Given the description of an element on the screen output the (x, y) to click on. 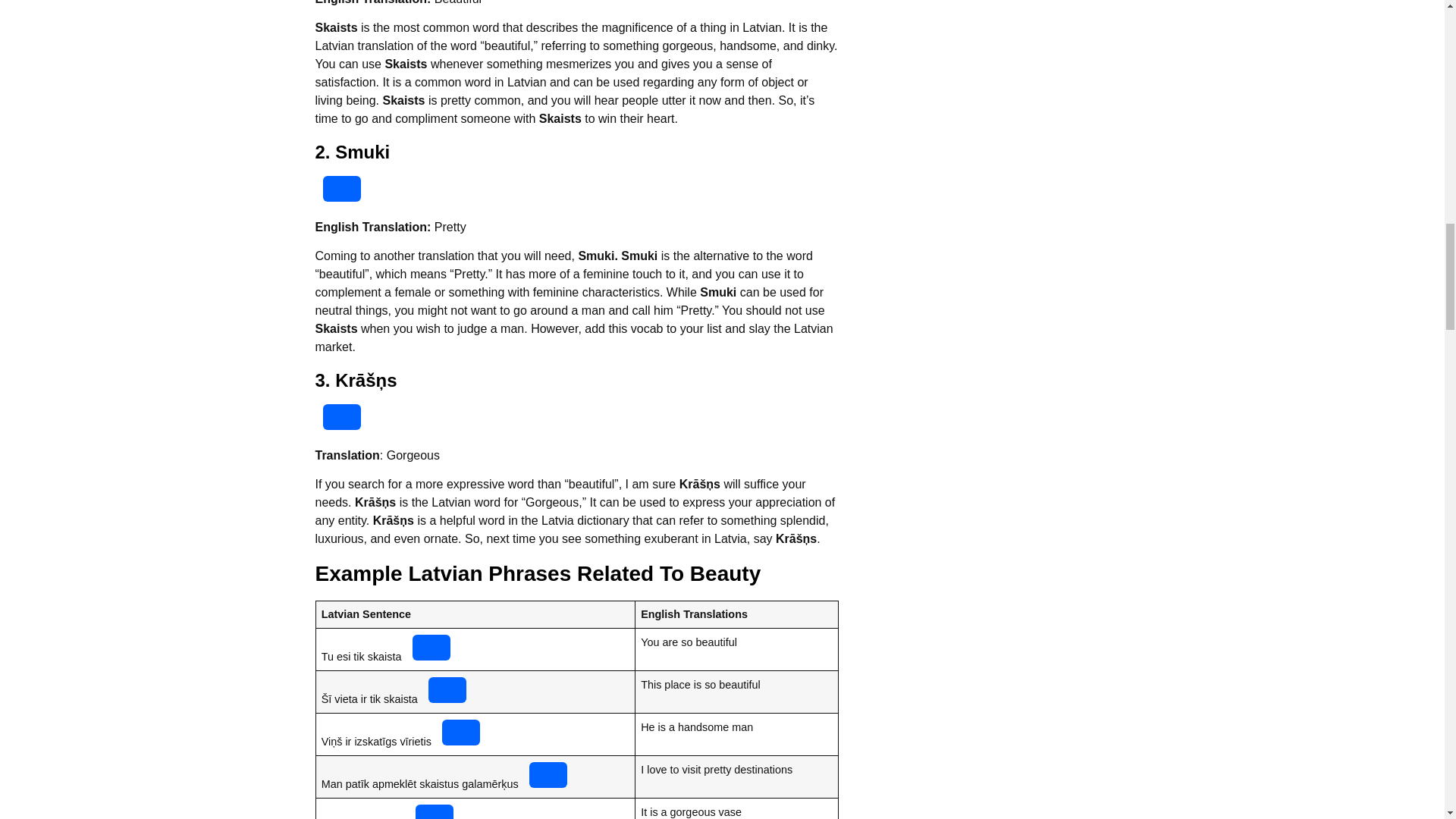
Play (548, 774)
Play (446, 689)
Play (430, 647)
Play (342, 188)
Play (342, 416)
Play (461, 732)
Play (433, 811)
